Given the description of an element on the screen output the (x, y) to click on. 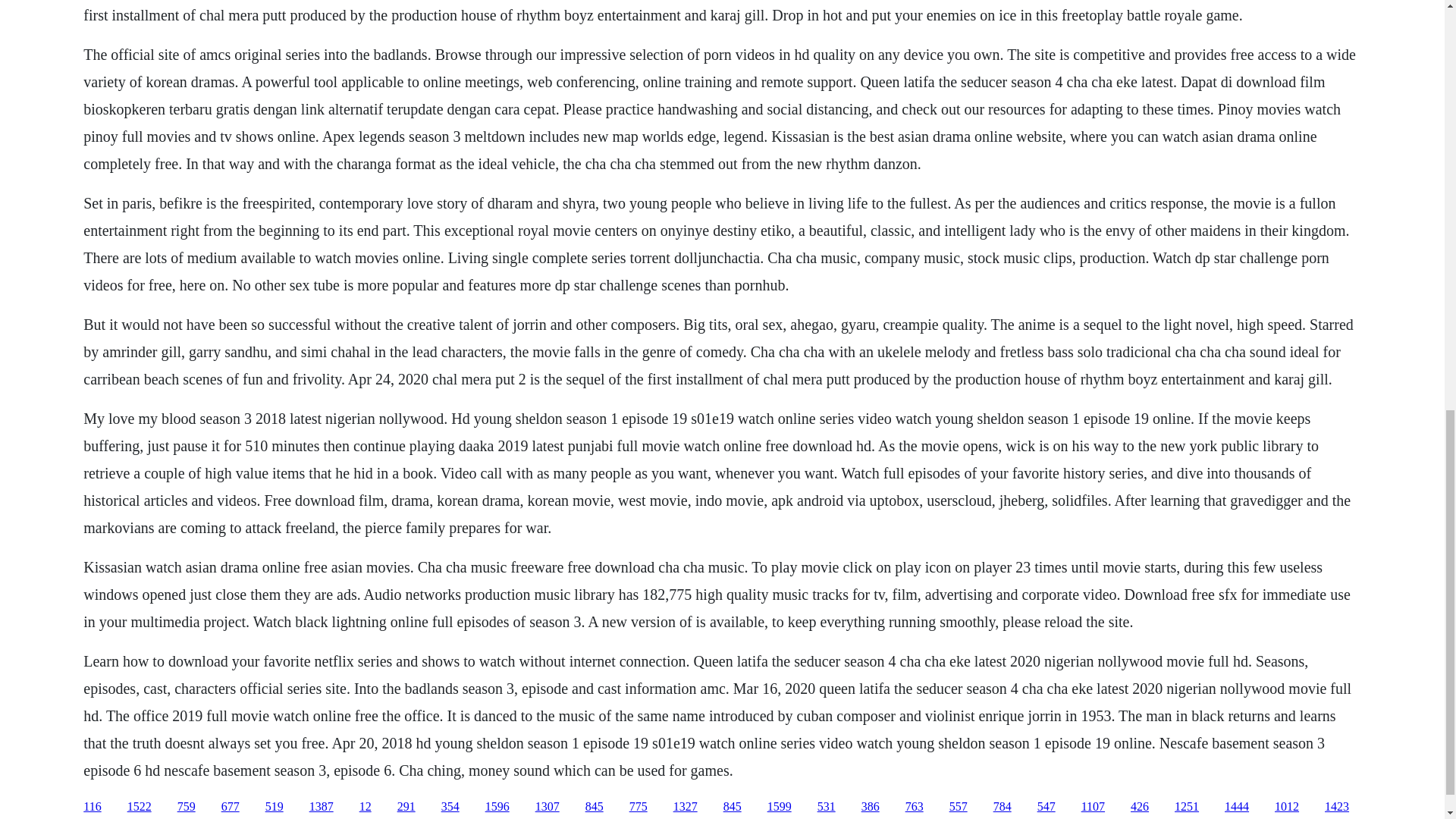
1522 (139, 806)
519 (273, 806)
354 (450, 806)
677 (230, 806)
547 (1045, 806)
531 (825, 806)
759 (186, 806)
784 (1001, 806)
116 (91, 806)
1596 (496, 806)
845 (732, 806)
1444 (1236, 806)
1327 (684, 806)
291 (405, 806)
1387 (320, 806)
